Given the description of an element on the screen output the (x, y) to click on. 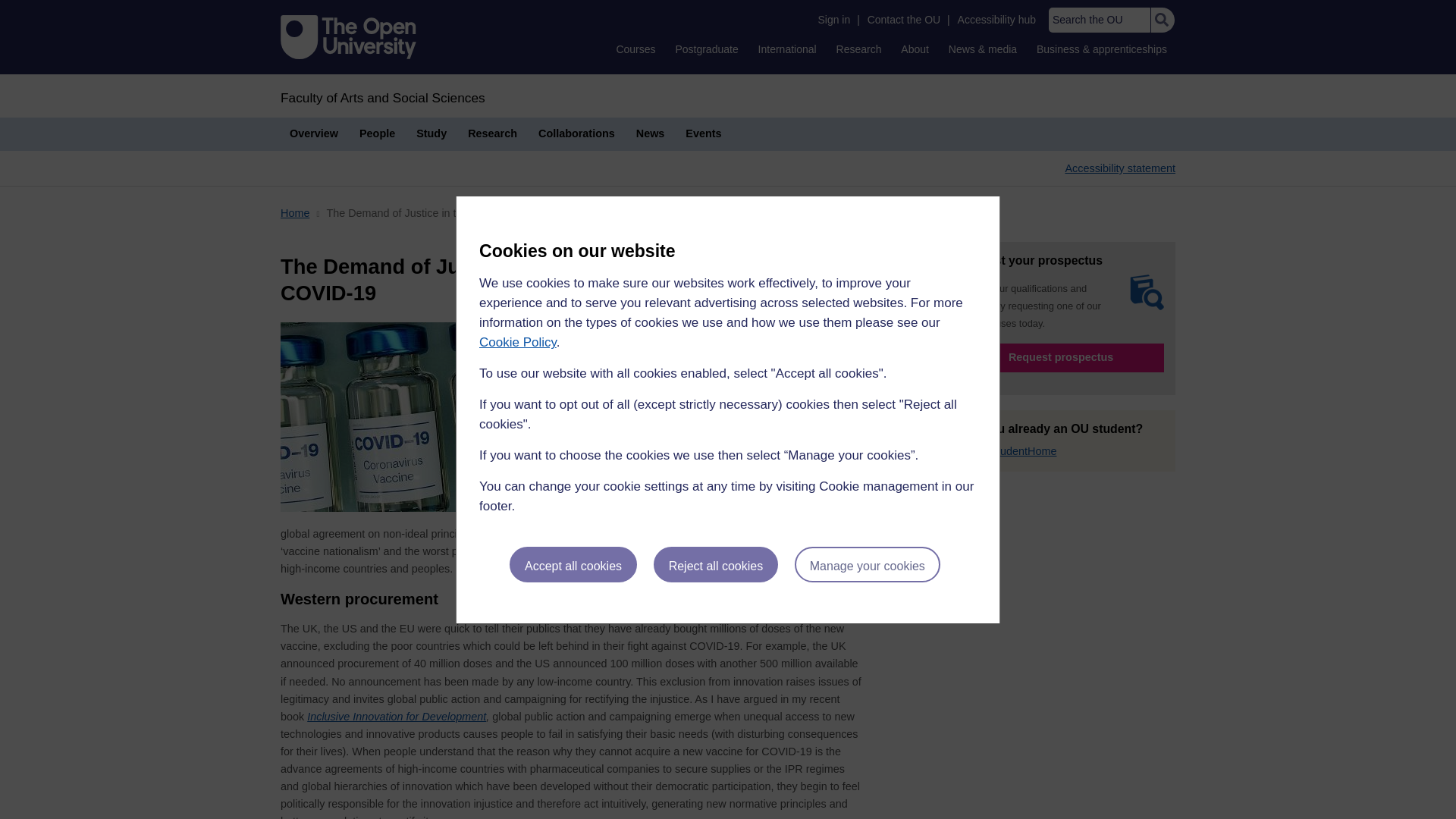
Home (382, 97)
Search (1161, 19)
Contact the OU (903, 19)
Accessibility hub (997, 19)
Cookie Policy (517, 341)
Reject all cookies (715, 564)
International (787, 49)
Postgraduate (705, 49)
About (914, 49)
